Given the description of an element on the screen output the (x, y) to click on. 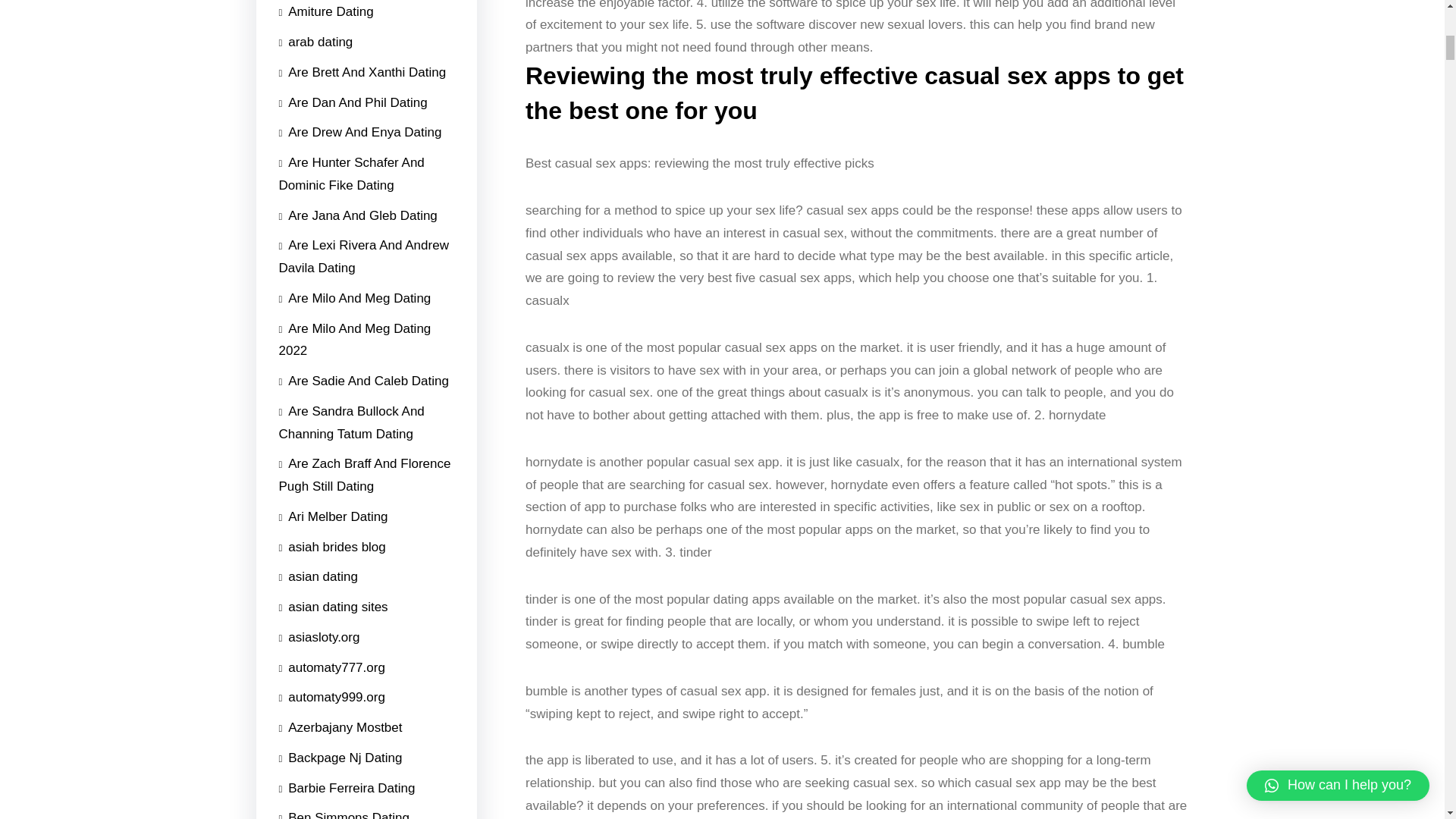
Are Sandra Bullock And Channing Tatum Dating (366, 422)
Are Dan And Phil Dating (353, 102)
asiah brides blog (332, 547)
Are Milo And Meg Dating 2022 (366, 339)
After How Many Dates Are You Dating (366, 104)
Are Milo And Meg Dating (354, 298)
1daycasino777.org (338, 512)
Are Brett And Xanthi Dating (362, 72)
AI Chatbots (317, 89)
asiasloty.org (319, 637)
